Given the description of an element on the screen output the (x, y) to click on. 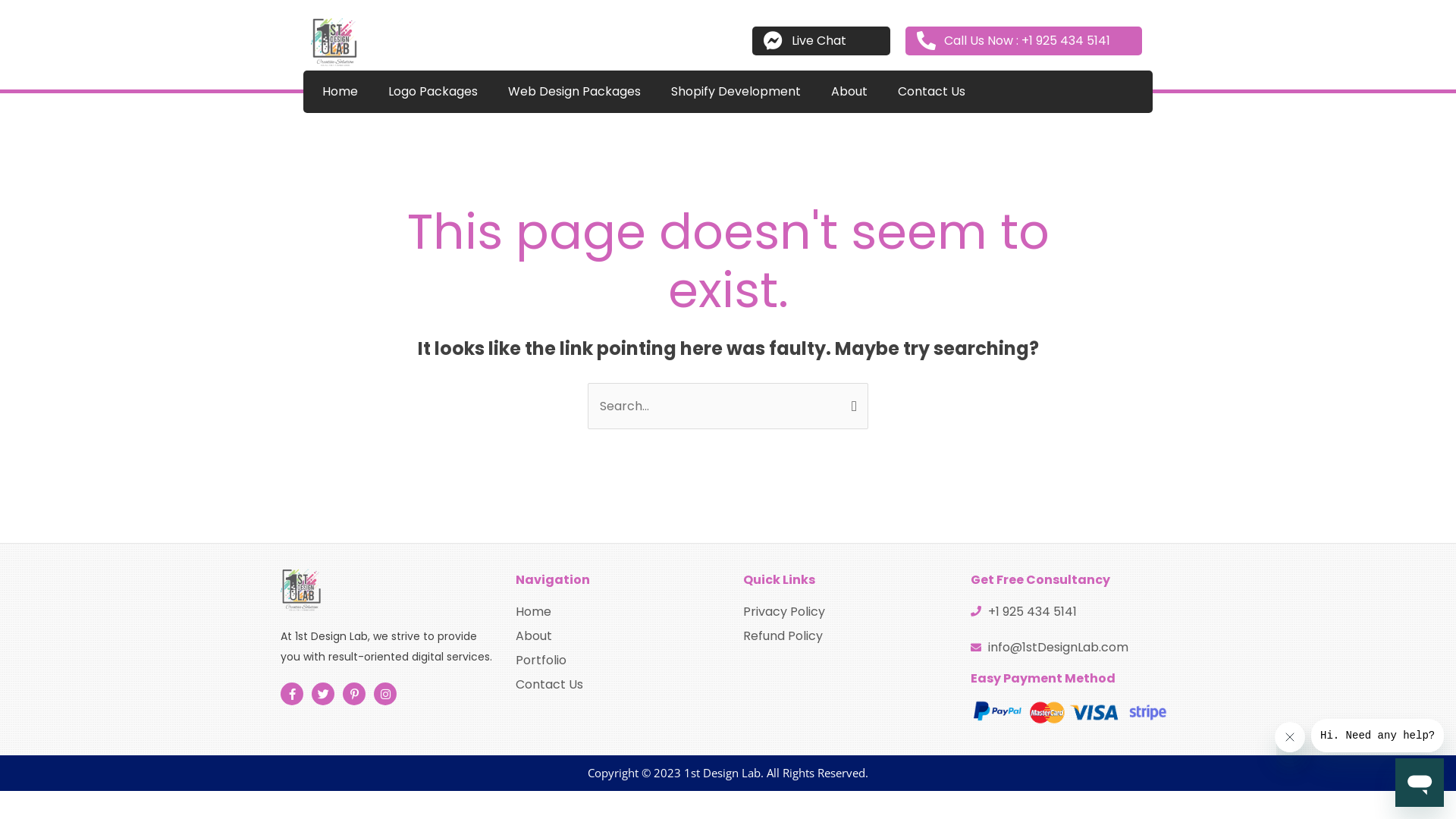
Search Element type: text (851, 397)
About Element type: text (848, 91)
Privacy Policy Element type: text (841, 611)
Home Element type: text (340, 91)
Web Design Packages Element type: text (573, 91)
Button to launch messaging window Element type: hover (1419, 782)
Refund Policy Element type: text (841, 635)
Twitter Element type: text (322, 693)
Pinterest-p Element type: text (353, 693)
Message from company Element type: hover (1377, 735)
Contact Us Element type: text (931, 91)
Home Element type: text (613, 611)
Logo Packages Element type: text (432, 91)
Instagram Element type: text (384, 693)
Live Chat Element type: text (820, 40)
Facebook-f Element type: text (291, 693)
Call Us Now : +1 925 434 5141 Element type: text (1023, 40)
Shopify Development Element type: text (735, 91)
Contact Us Element type: text (613, 684)
Close message Element type: hover (1289, 736)
About Element type: text (613, 635)
